Given the description of an element on the screen output the (x, y) to click on. 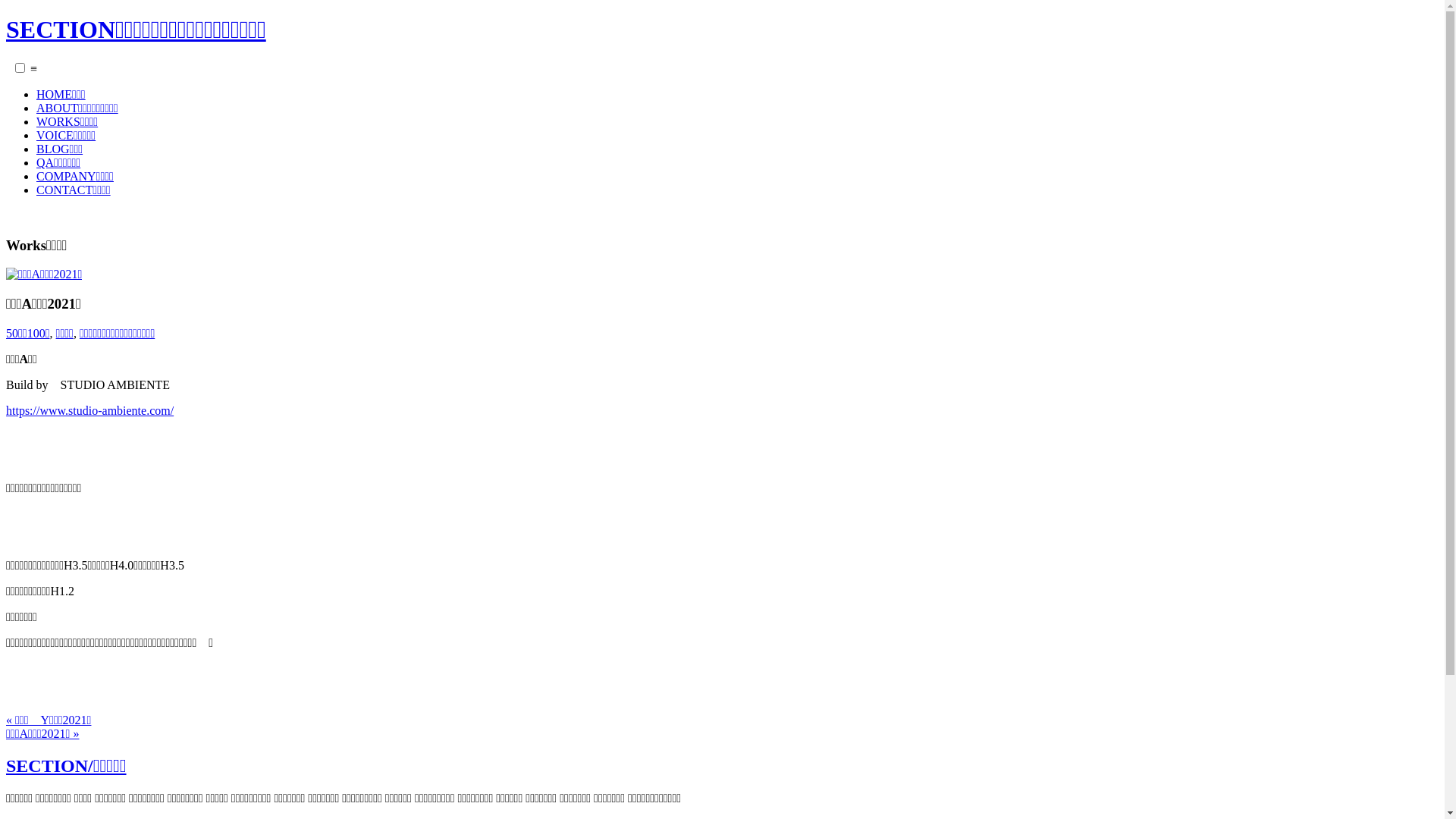
https://www.studio-ambiente.com/ Element type: text (89, 410)
